Given the description of an element on the screen output the (x, y) to click on. 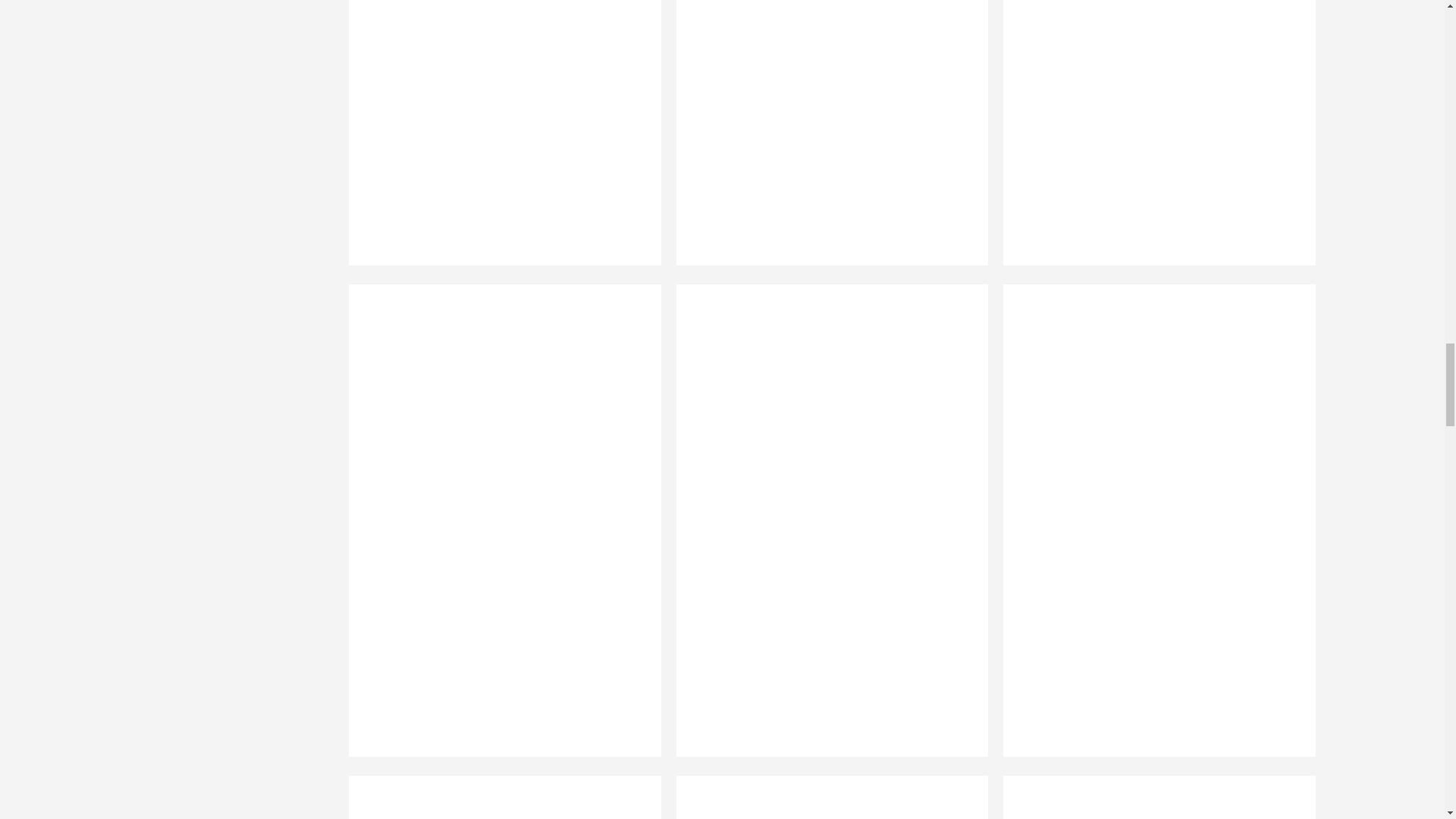
0 (497, 797)
0 (824, 797)
0 (497, 142)
0 (1152, 797)
0 (824, 142)
0 (1152, 142)
